Given the description of an element on the screen output the (x, y) to click on. 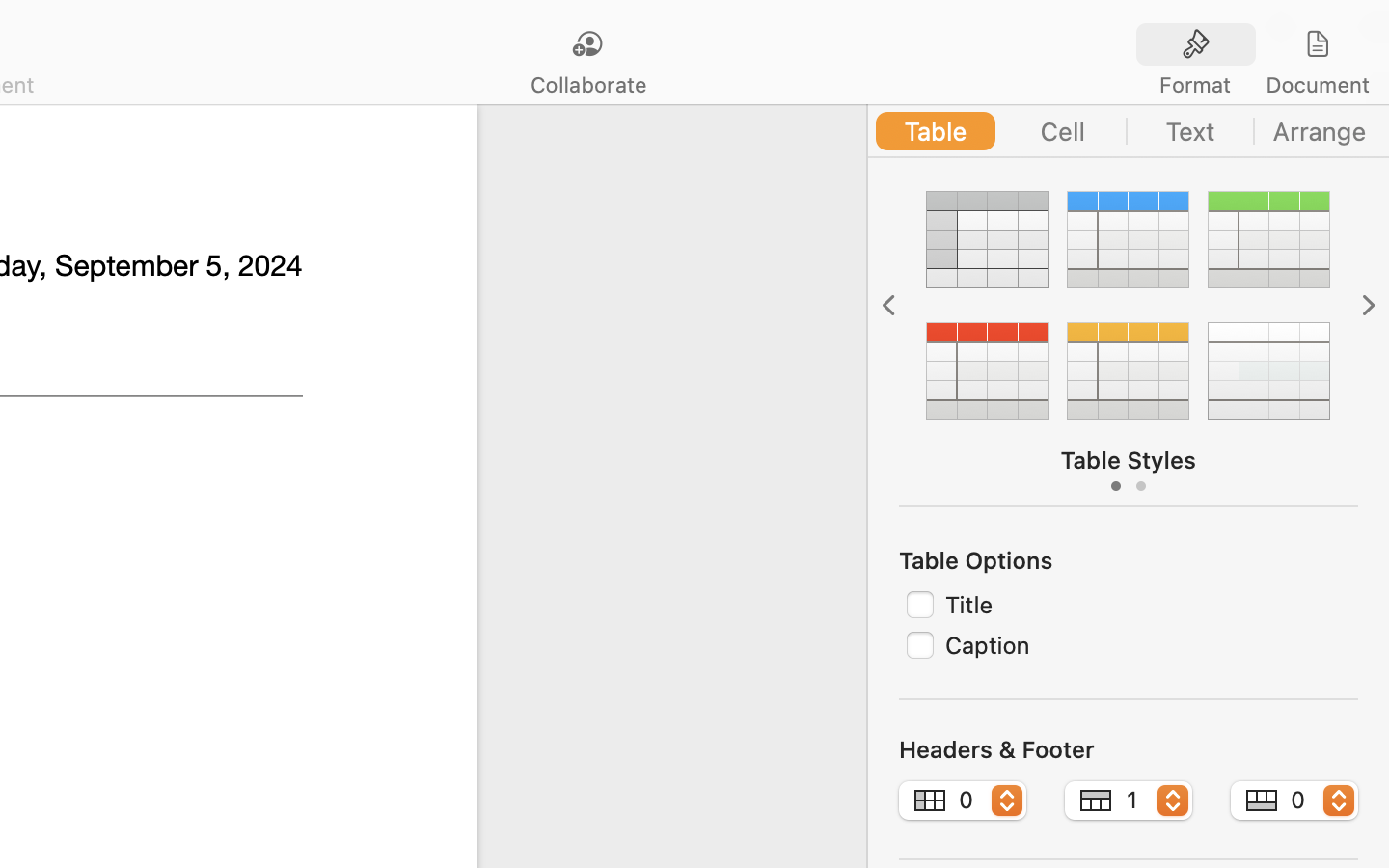
Document Element type: AXStaticText (1316, 84)
Headers & Footer Element type: AXStaticText (996, 748)
Format Element type: AXStaticText (1194, 84)
